Given the description of an element on the screen output the (x, y) to click on. 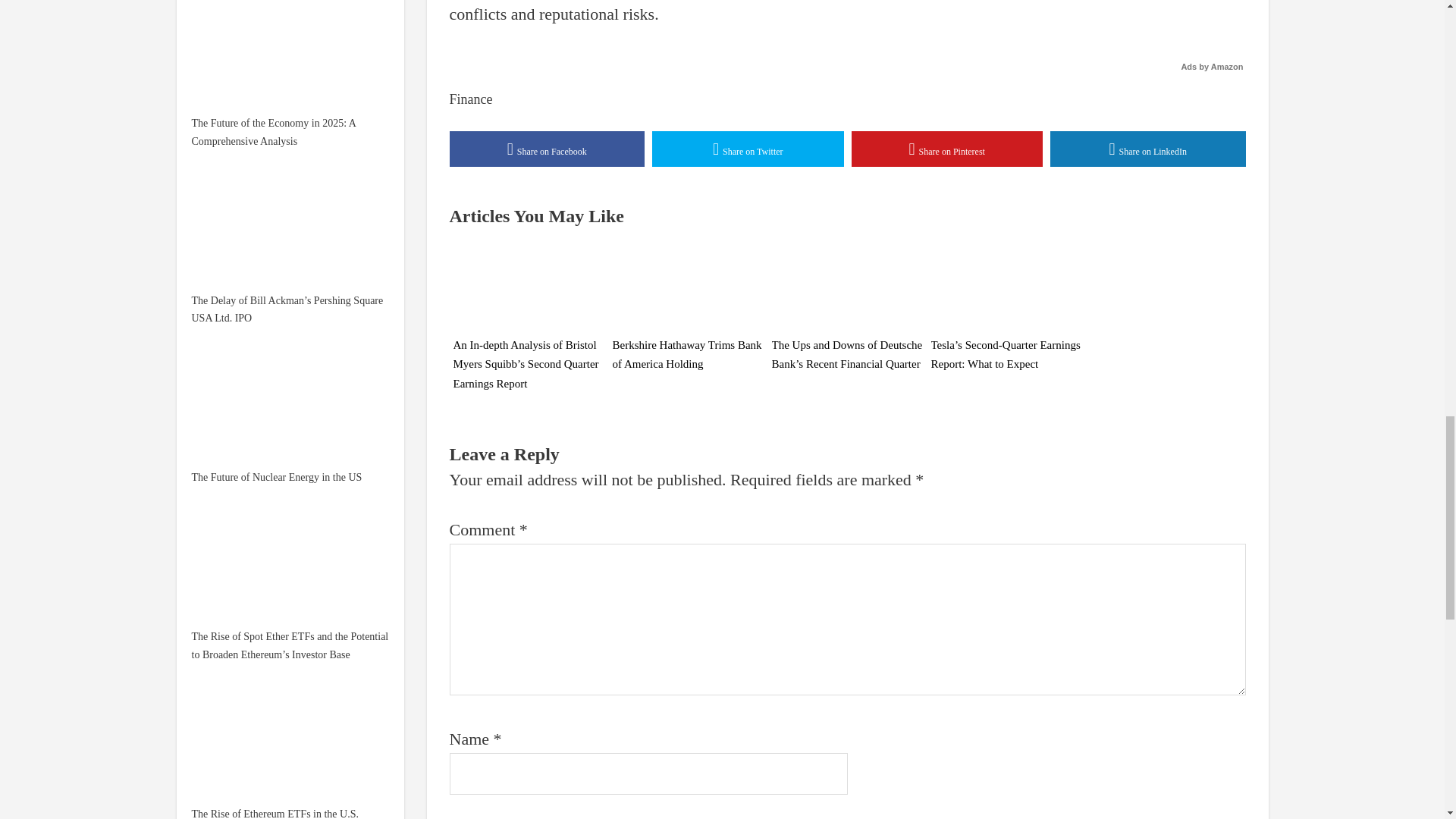
Finance (470, 99)
